Given the description of an element on the screen output the (x, y) to click on. 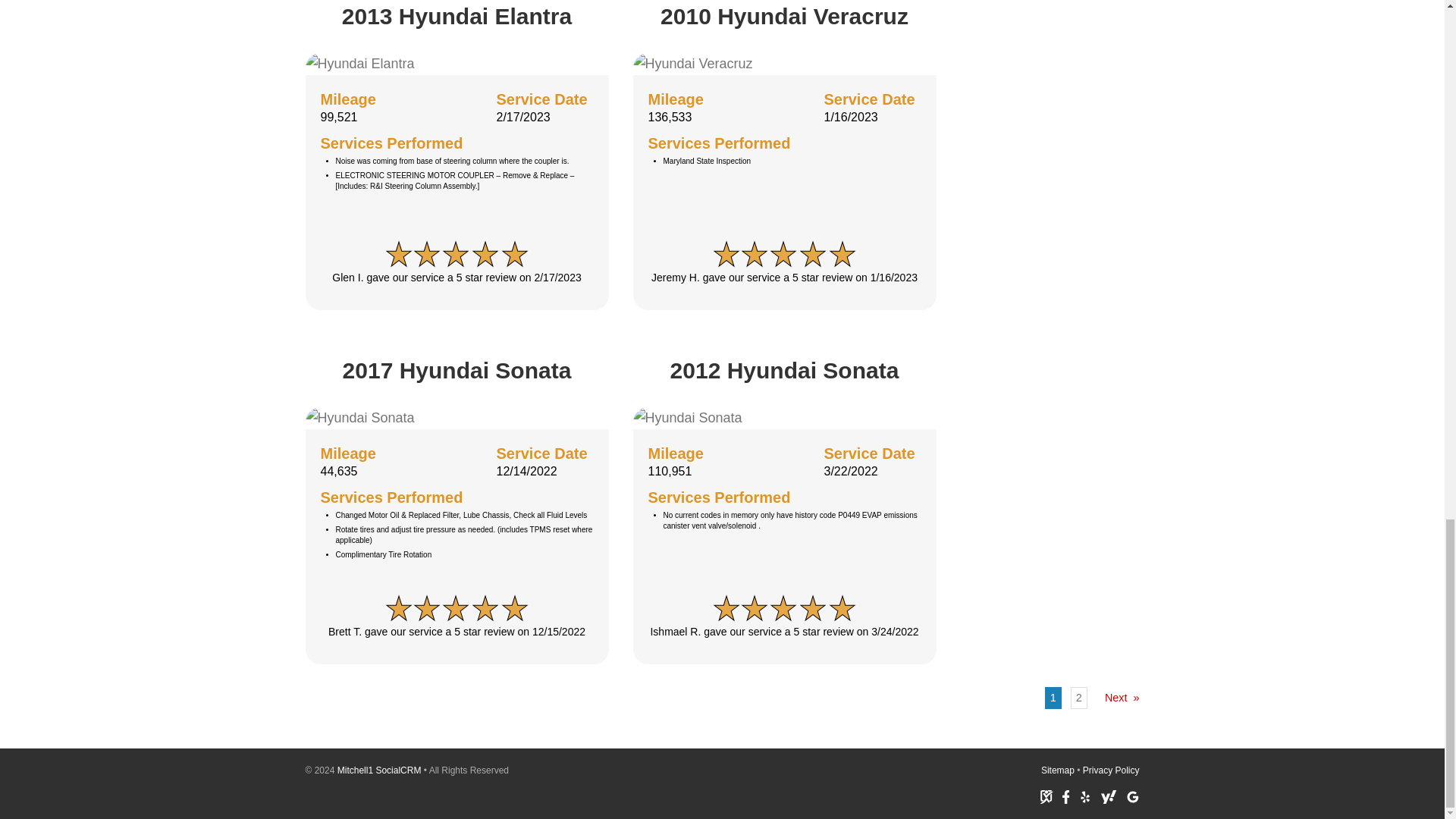
Yahoo (1108, 796)
SureCritic (1046, 796)
Yelp (1085, 796)
Mitchell1 SocialCRM (379, 769)
